Given the description of an element on the screen output the (x, y) to click on. 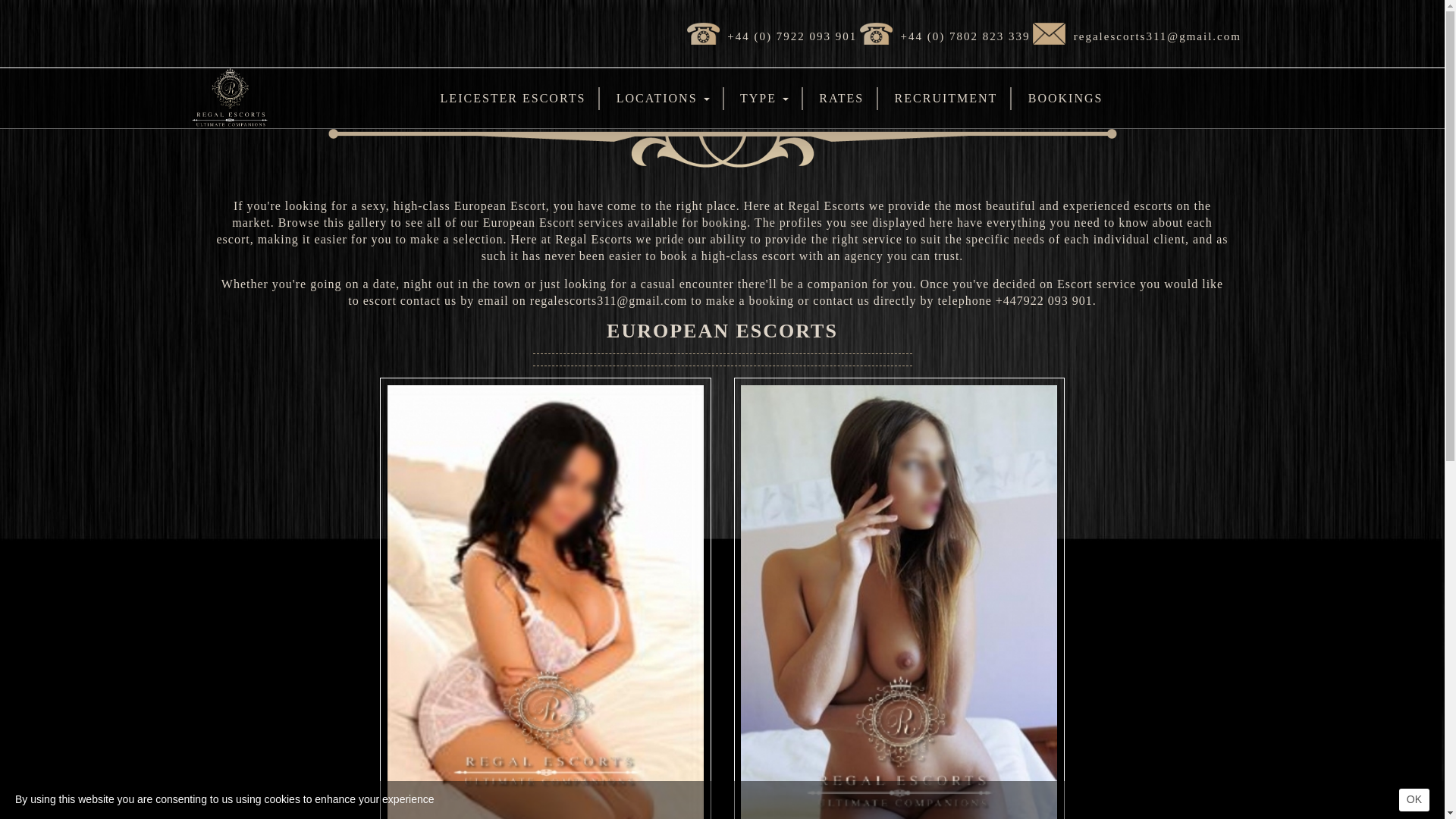
LOCATIONS (662, 97)
LEICESTER ESCORTS (512, 97)
Press to Call Regal Escorts Agency (791, 36)
BOOKINGS (1065, 97)
RATES (841, 97)
Press to Call Regal Escorts Agency (965, 36)
RECRUITMENT (946, 97)
Press to Email Regal Escorts Agency (1157, 36)
TYPE (764, 97)
